Given the description of an element on the screen output the (x, y) to click on. 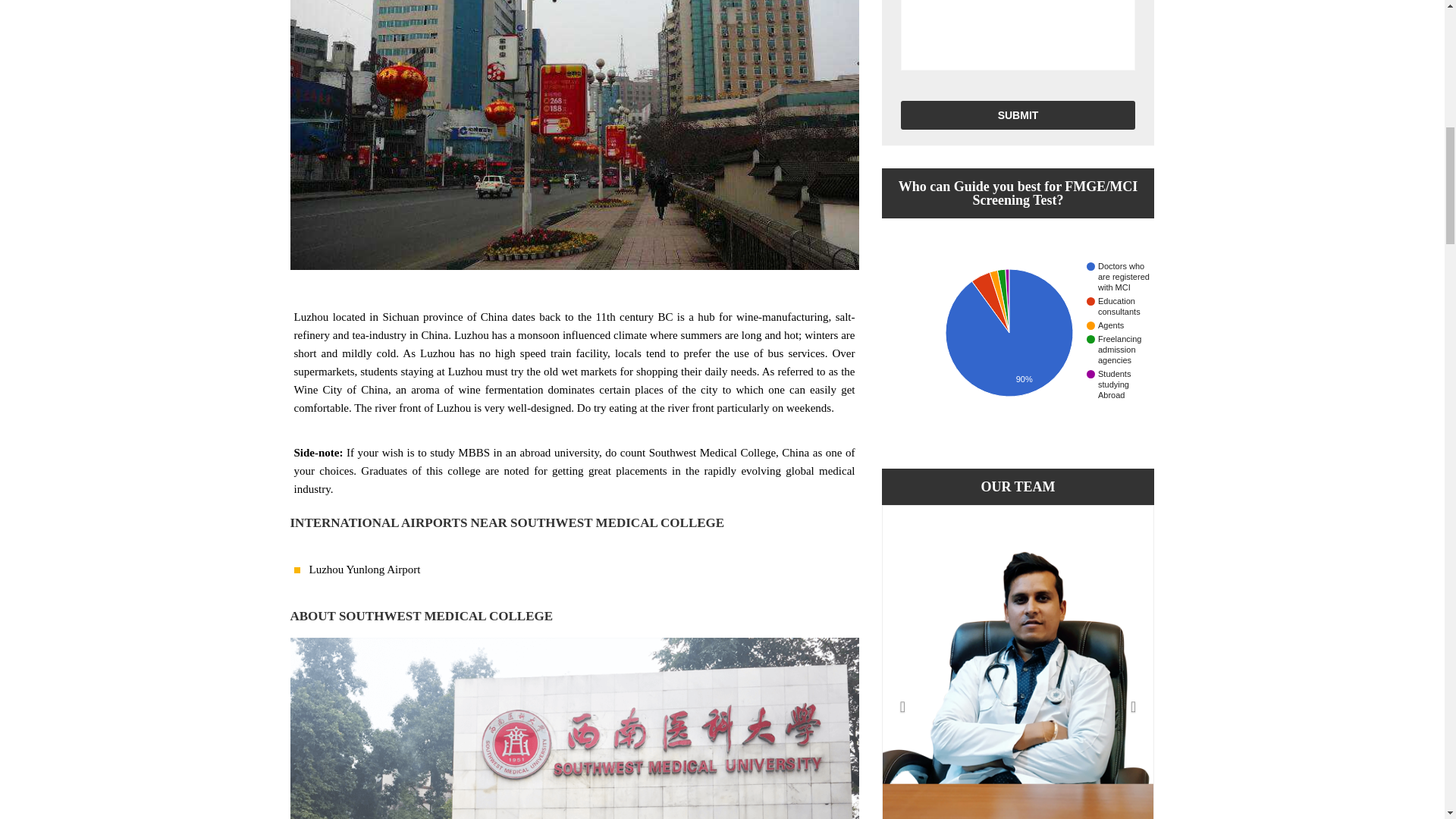
Submit (1018, 114)
